Given the description of an element on the screen output the (x, y) to click on. 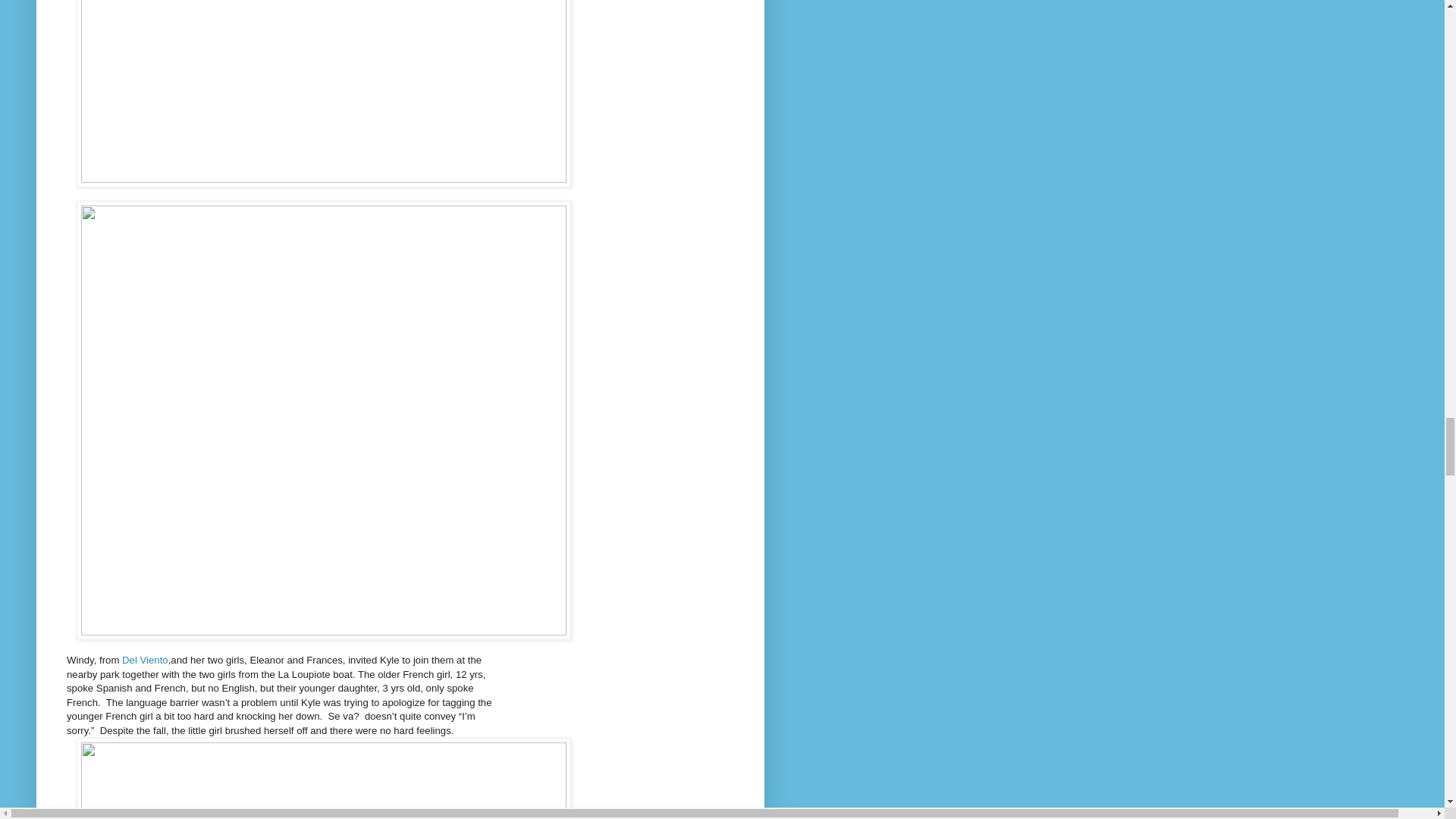
Del Viento (143, 659)
